Given the description of an element on the screen output the (x, y) to click on. 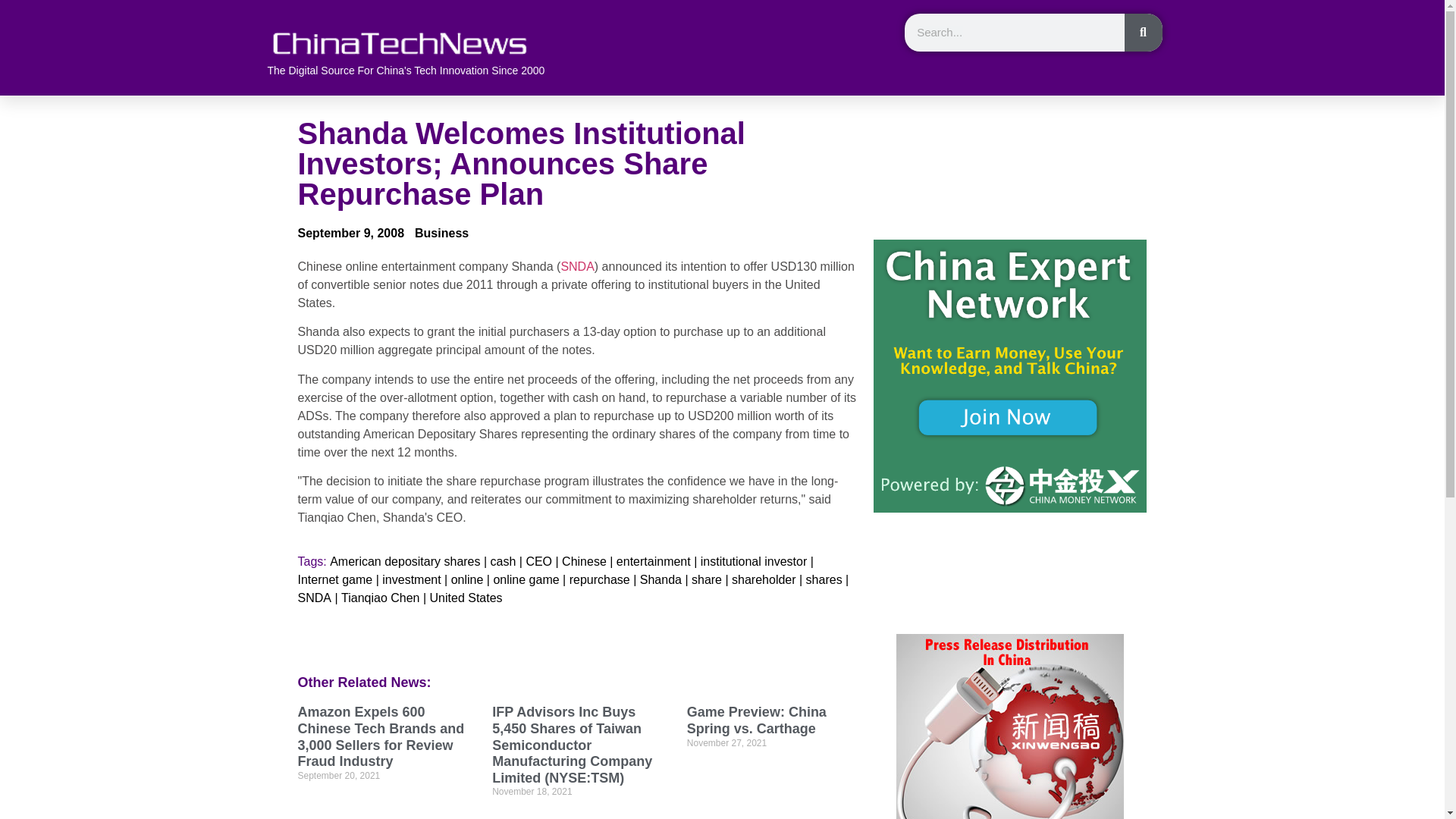
institutional investor (754, 561)
share (706, 579)
Internet game (334, 579)
entertainment (652, 561)
shares (824, 579)
Chinese (584, 561)
Tianqiao Chen (379, 597)
American depositary shares (405, 561)
investment (411, 579)
